Given the description of an element on the screen output the (x, y) to click on. 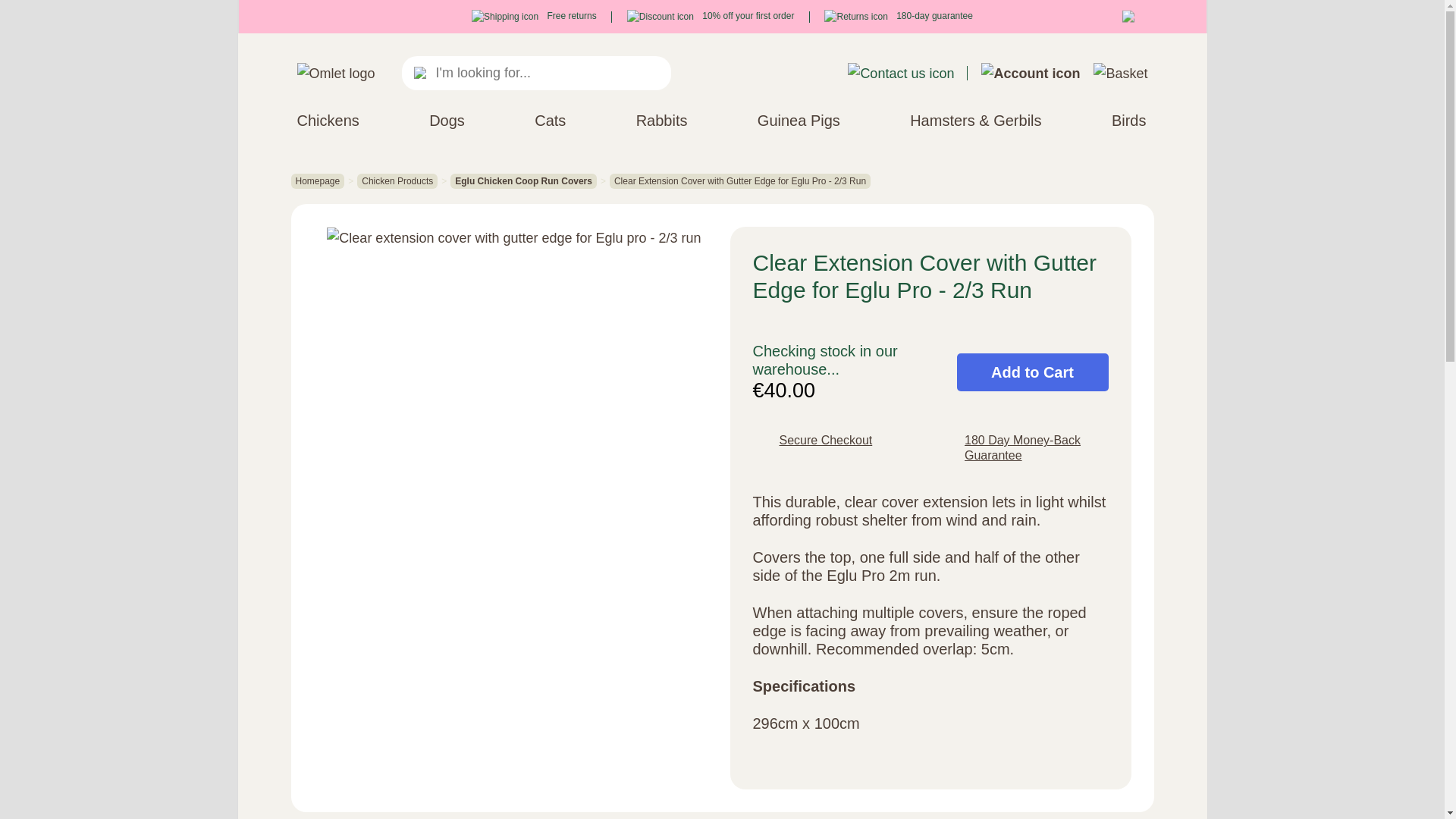
Chickens (328, 120)
Returns icon (855, 16)
Account (1030, 74)
Contact us (900, 74)
Shipping (504, 16)
180-day guarantee (898, 15)
Omlet (336, 74)
Basket (1120, 74)
Discount icon (660, 16)
Free returns (533, 15)
